Given the description of an element on the screen output the (x, y) to click on. 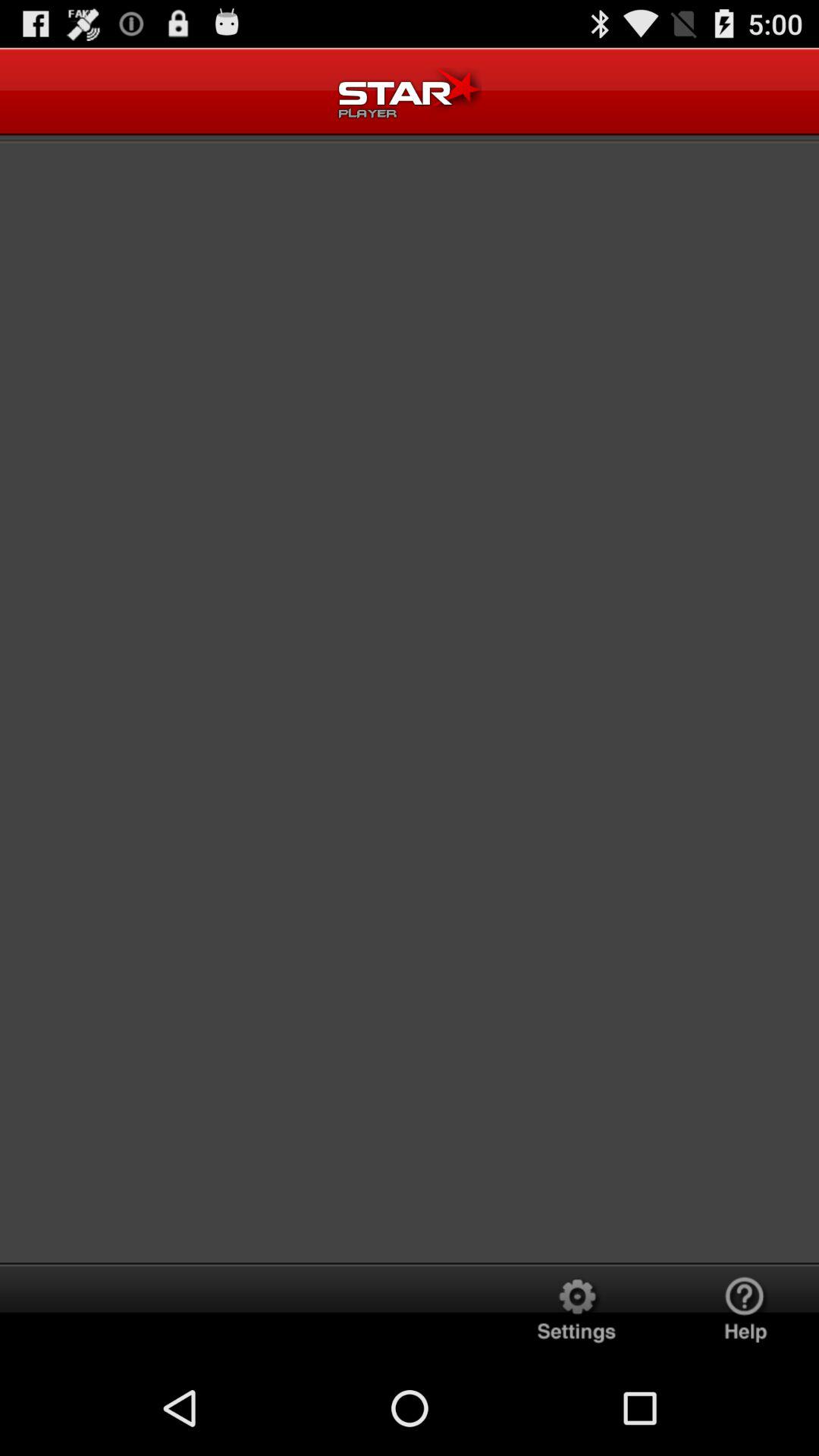
settings (576, 1311)
